Given the description of an element on the screen output the (x, y) to click on. 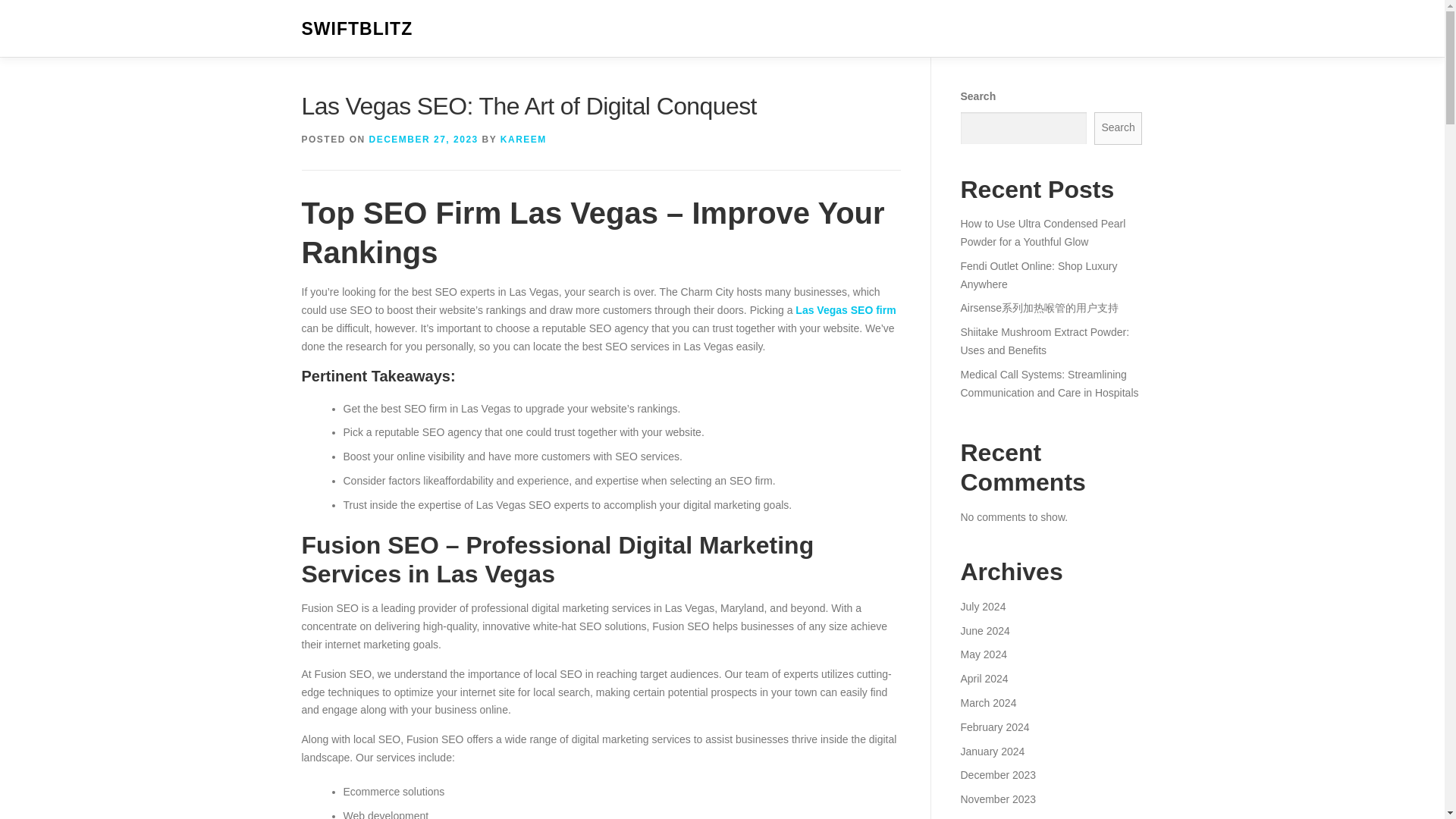
January 2024 (992, 750)
February 2024 (994, 727)
Fendi Outlet Online: Shop Luxury Anywhere (1037, 275)
Search (1118, 128)
Las Vegas SEO firm (844, 309)
November 2023 (997, 799)
April 2024 (983, 678)
DECEMBER 27, 2023 (424, 139)
SWIFTBLITZ (357, 29)
December 2023 (997, 775)
October 2023 (992, 818)
KAREEM (523, 139)
March 2024 (987, 702)
May 2024 (982, 654)
